Given the description of an element on the screen output the (x, y) to click on. 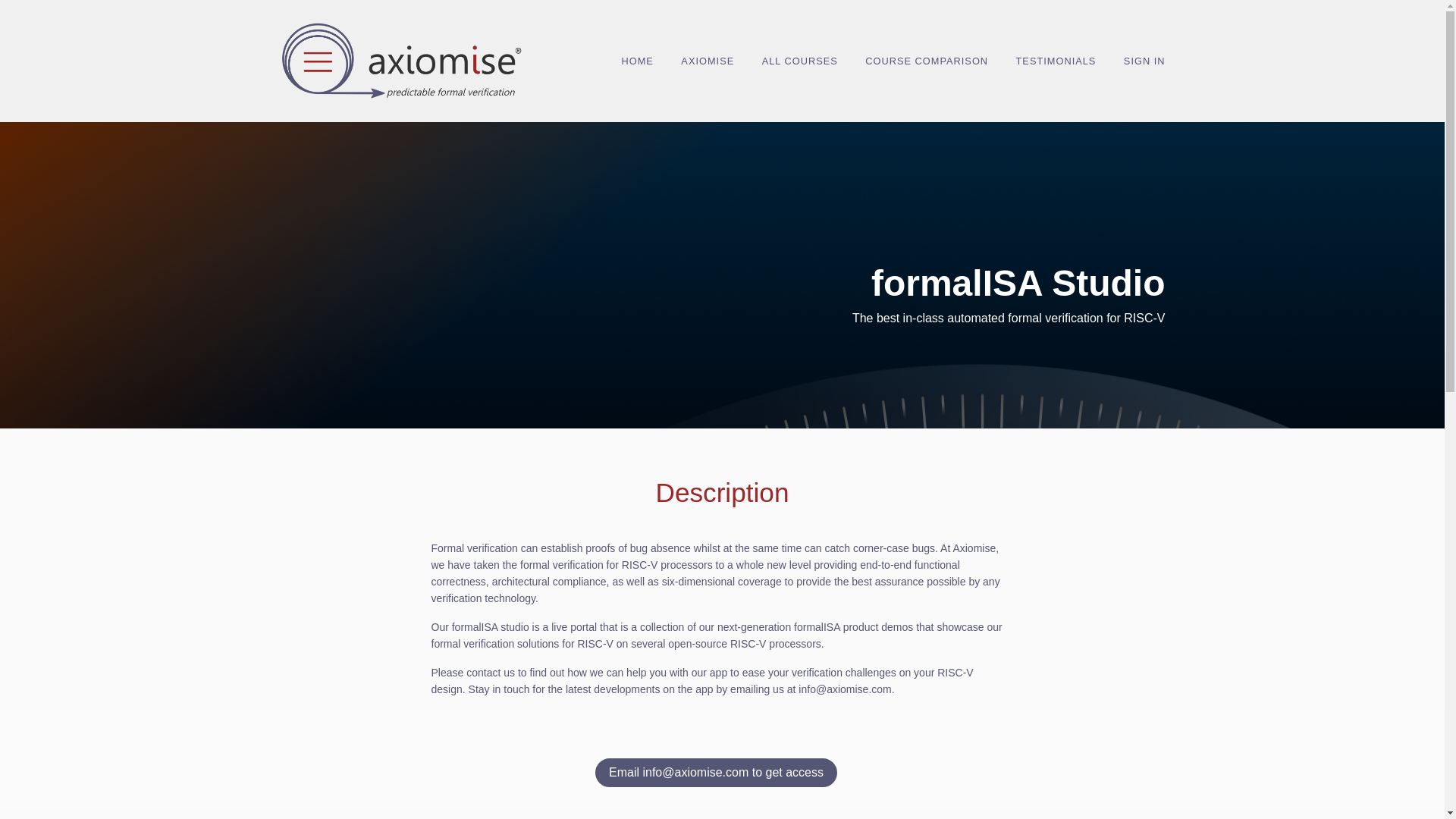
ALL COURSES (799, 60)
AXIOMISE (707, 60)
HOME (637, 60)
COURSE COMPARISON (926, 60)
SIGN IN (1145, 60)
TESTIMONIALS (1056, 60)
